Given the description of an element on the screen output the (x, y) to click on. 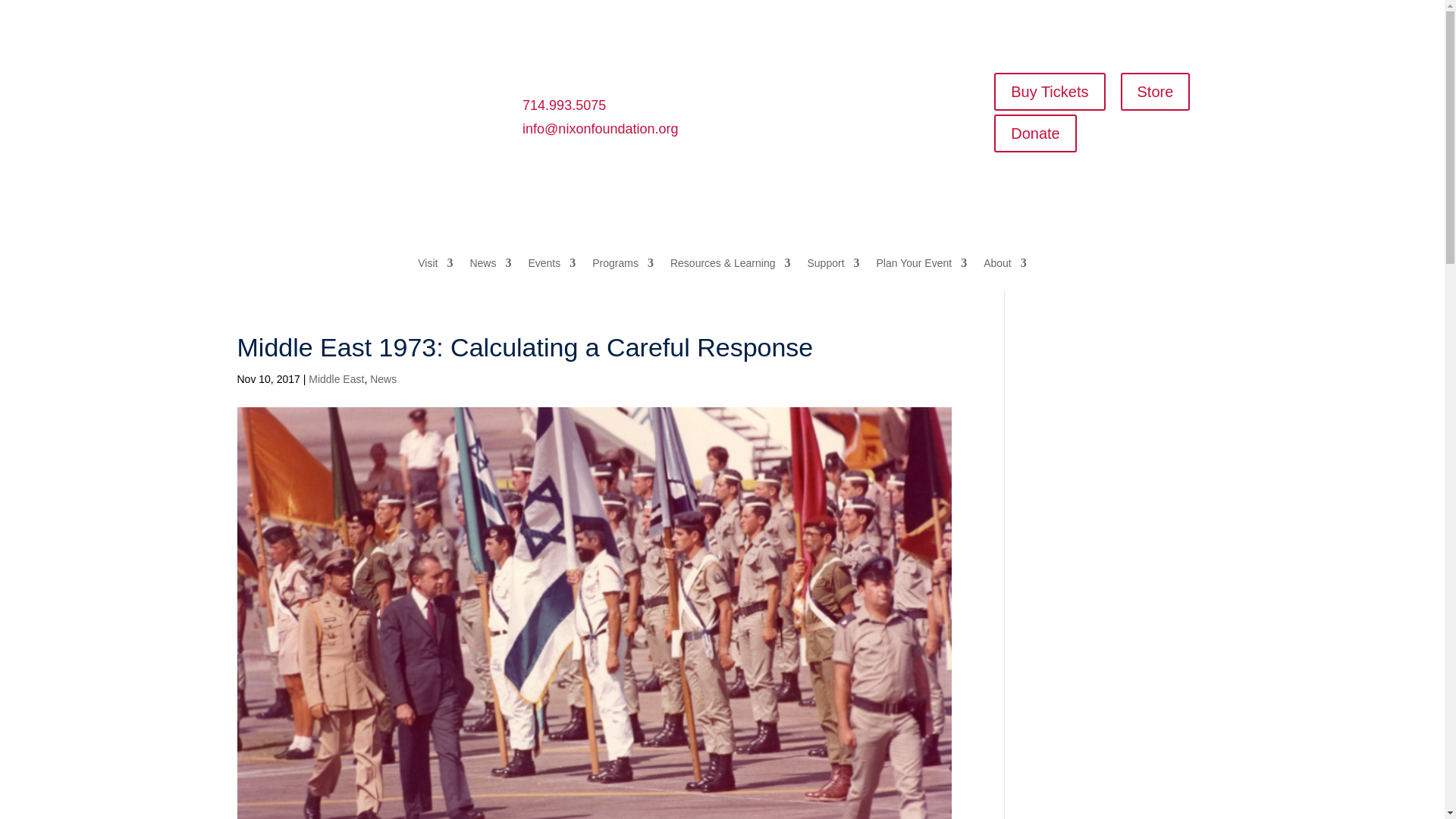
714.993.5075 (563, 105)
Visit (434, 273)
News (489, 273)
Support (832, 273)
Donate (1035, 133)
Buy Tickets (1049, 91)
Store (1156, 91)
rnf-logo-2020 (346, 99)
Events (551, 273)
Programs (622, 273)
